Given the description of an element on the screen output the (x, y) to click on. 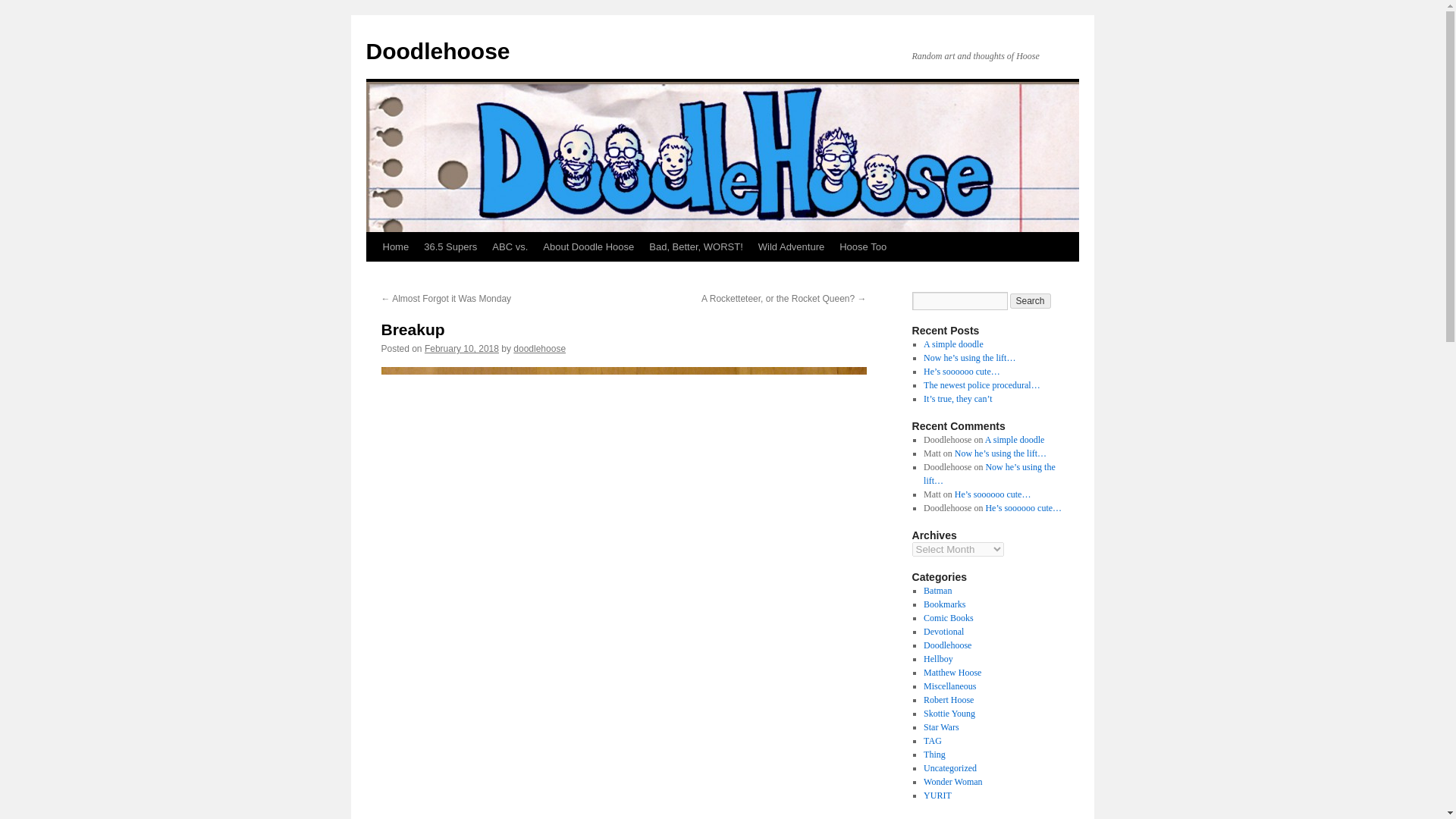
A simple doodle (1015, 439)
Wild Adventure (791, 246)
Home (395, 246)
View all posts by doodlehoose (539, 348)
36.5 Supers (450, 246)
Search (1030, 300)
About Doodle Hoose (588, 246)
A simple doodle (953, 344)
Bad, Better, WORST! (696, 246)
Doodlehoose (437, 50)
Doodlehoose  (437, 50)
Doodlehoose (947, 644)
February 10, 2018 (462, 348)
ABC vs. (509, 246)
Hellboy (938, 658)
